Given the description of an element on the screen output the (x, y) to click on. 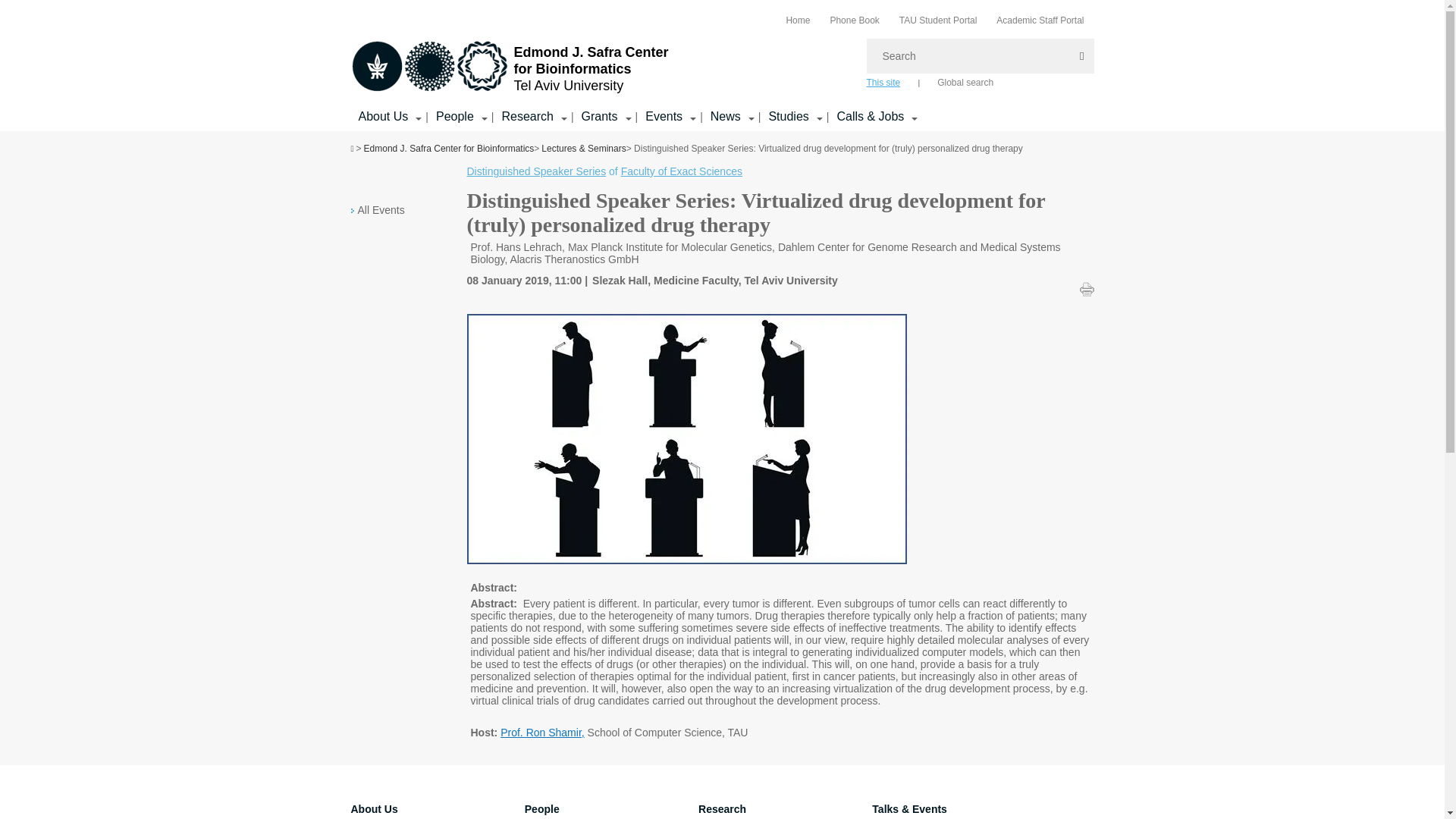
Home (797, 20)
Go to homepage (509, 66)
print (1087, 288)
Edmond J. Safra Center for Bioinformatics (429, 65)
About Us (382, 116)
Research (526, 116)
People (454, 116)
Academic Staff Portal (1039, 20)
